Given the description of an element on the screen output the (x, y) to click on. 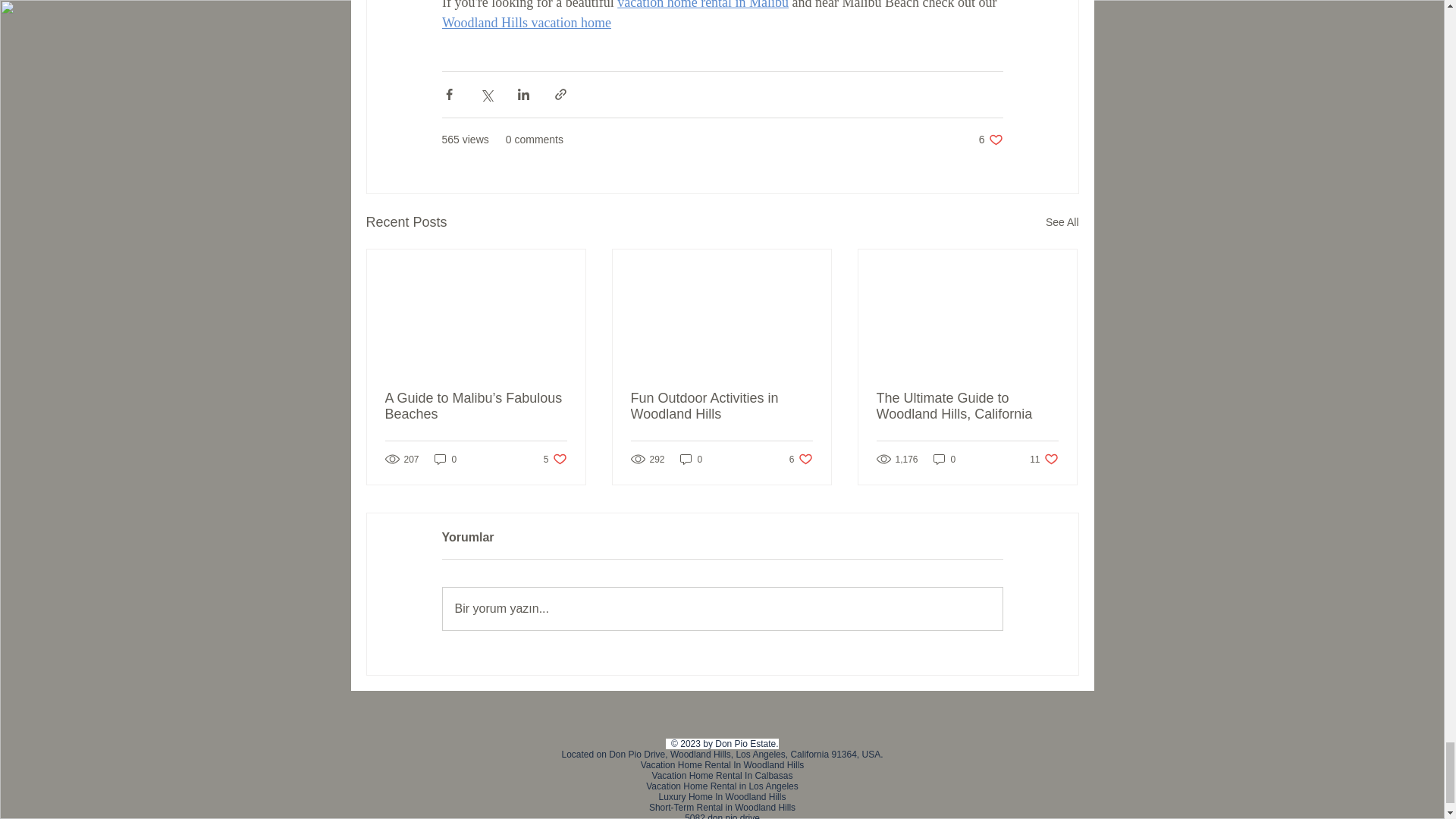
0 (990, 139)
Fun Outdoor Activities in Woodland Hills (555, 459)
See All (445, 459)
Woodland Hills vacation home (721, 406)
0 (1061, 222)
vacation home rental in Malibu (525, 22)
